Given the description of an element on the screen output the (x, y) to click on. 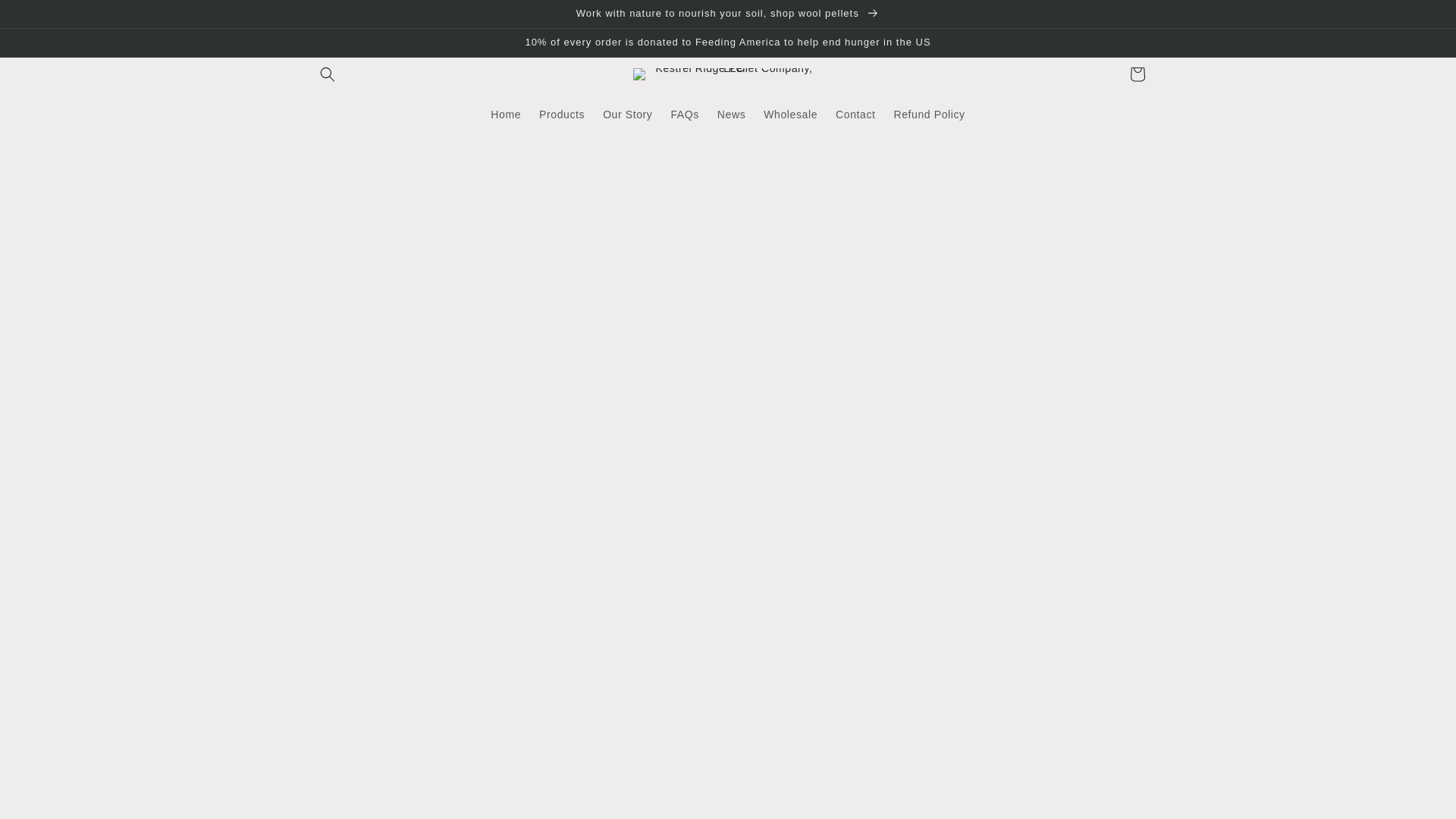
FAQs (684, 114)
Skip to content (45, 17)
Our Story (627, 114)
Wholesale (790, 114)
News (730, 114)
Contact (855, 114)
Home (505, 114)
Refund Policy (928, 114)
Products (561, 114)
Cart (1137, 73)
